Given the description of an element on the screen output the (x, y) to click on. 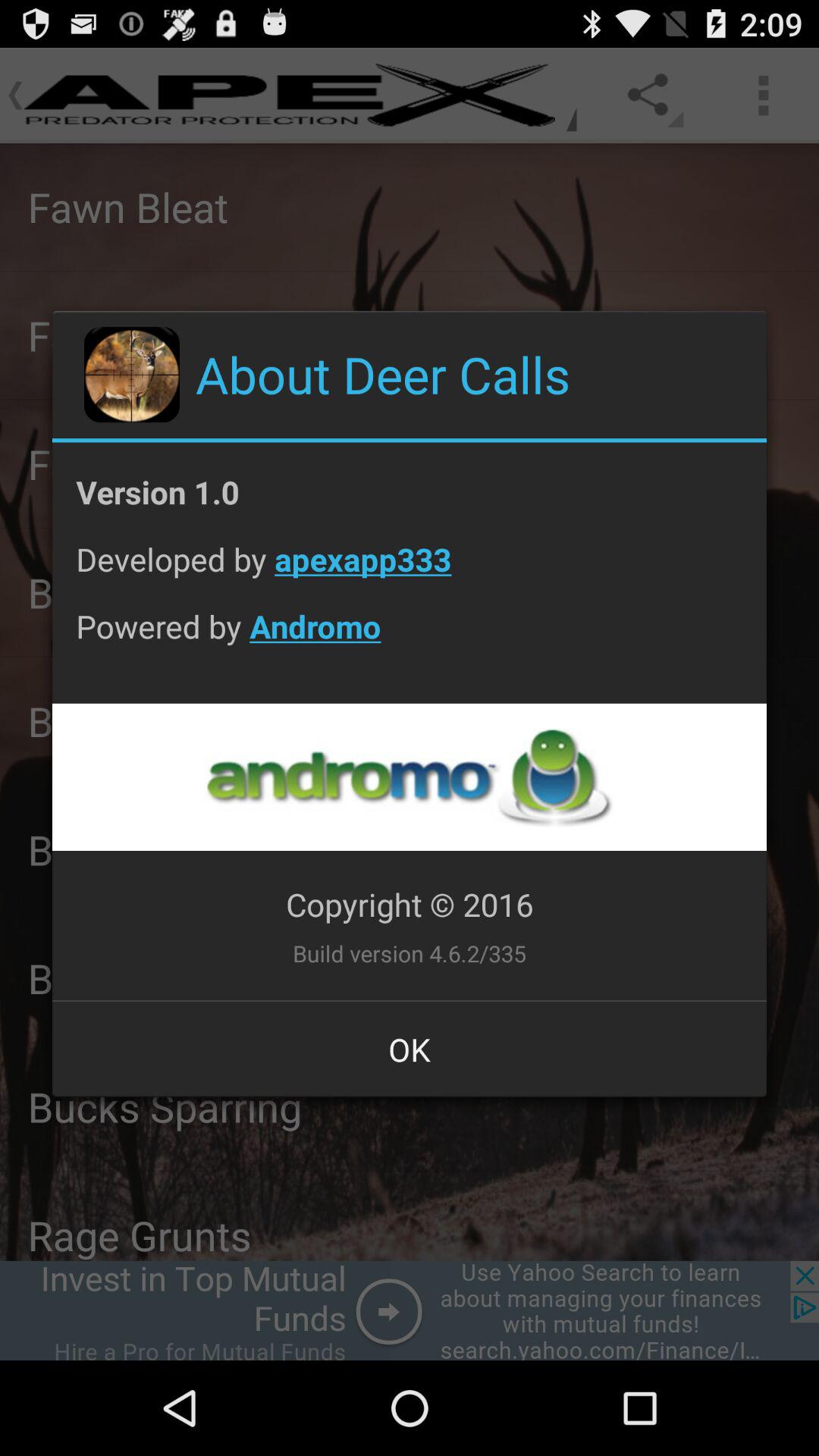
click item below build version 4 app (409, 1049)
